Given the description of an element on the screen output the (x, y) to click on. 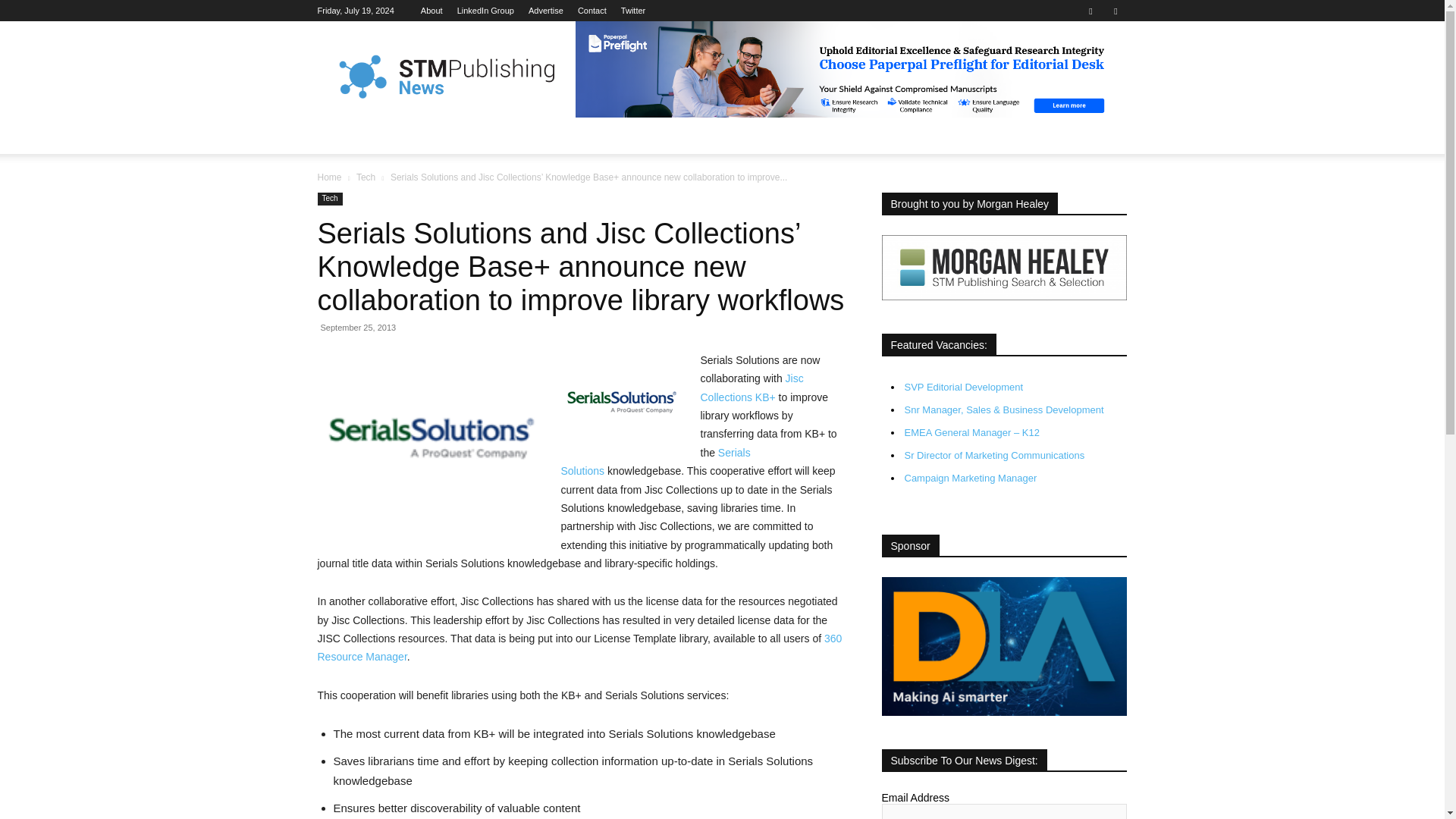
Twitter (633, 10)
LinkedIn (485, 10)
FEATURED (411, 135)
HOME (342, 135)
About (431, 10)
LinkedIn Group (485, 10)
Linkedin (1090, 10)
Twitter (1114, 10)
Advertise (545, 10)
Contact (592, 10)
